Given the description of an element on the screen output the (x, y) to click on. 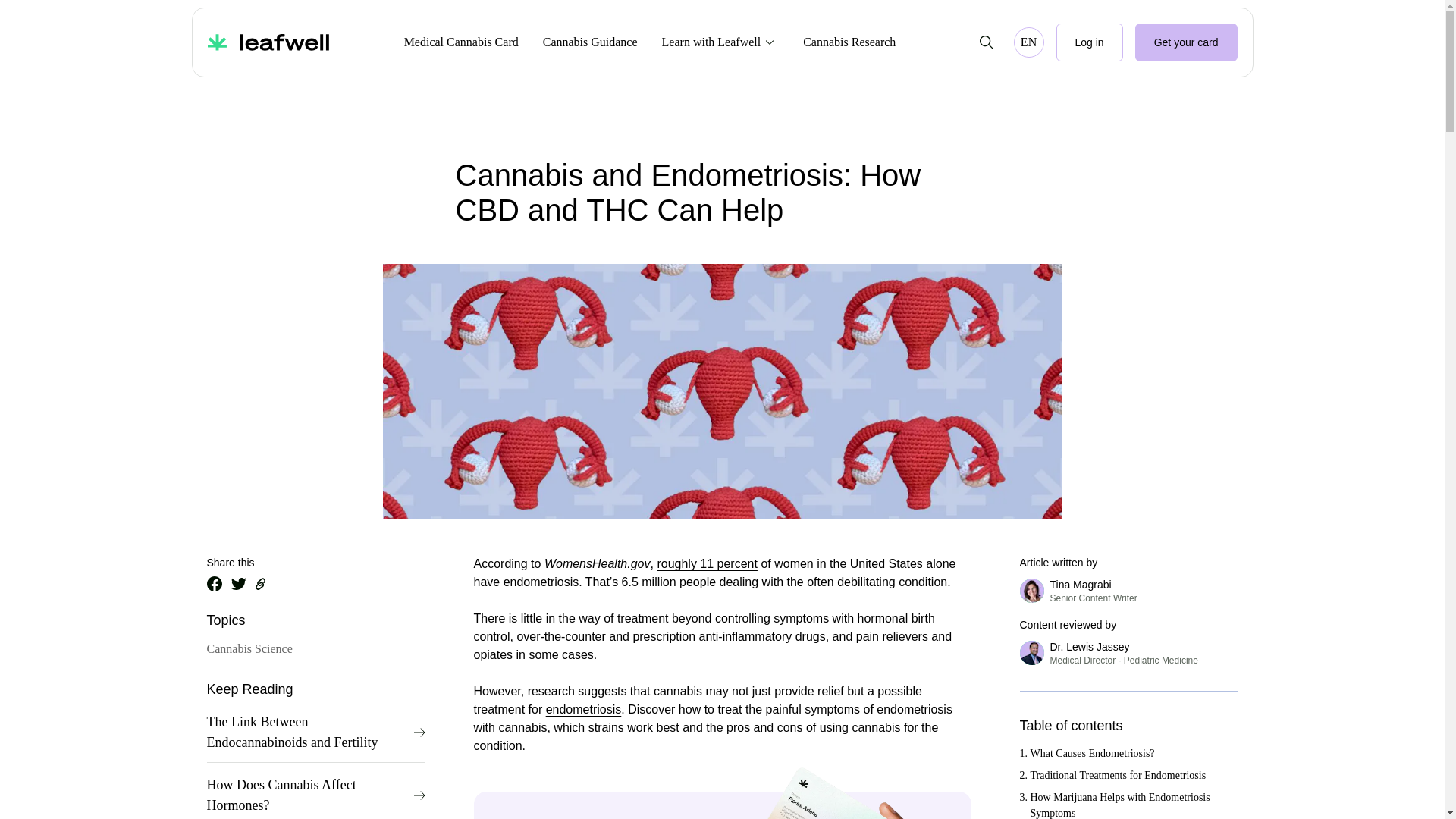
EN (1028, 42)
Get your card (1122, 653)
Traditional Treatments for Endometriosis (1186, 42)
Log in (1130, 774)
How Marijuana Helps with Endometriosis Symptoms (1089, 42)
Cannabis Guidance (1130, 804)
roughly 11 percent (590, 42)
Medical Cannabis Card (706, 563)
